Given the description of an element on the screen output the (x, y) to click on. 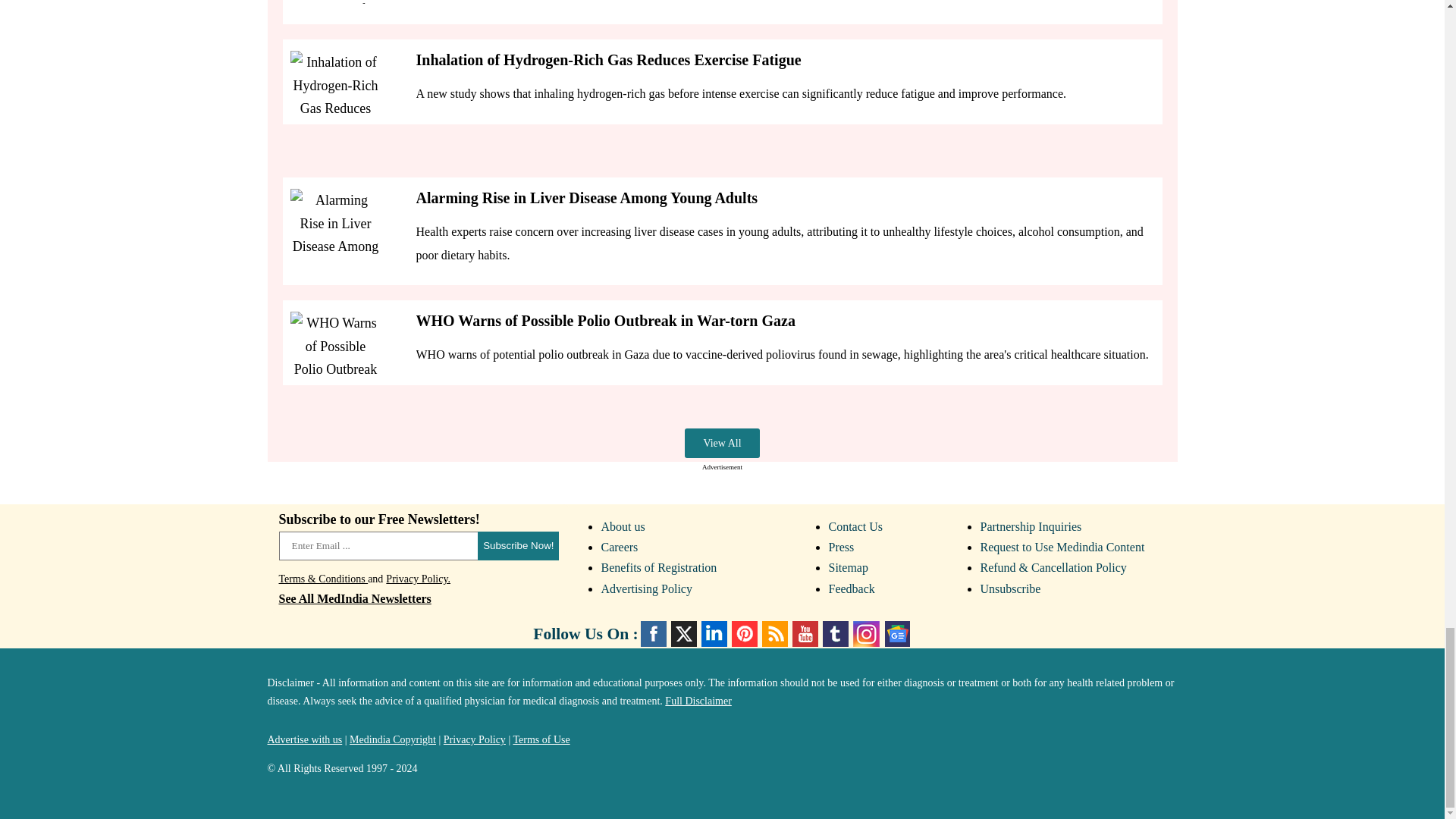
Subscribe Now! (518, 545)
